Given the description of an element on the screen output the (x, y) to click on. 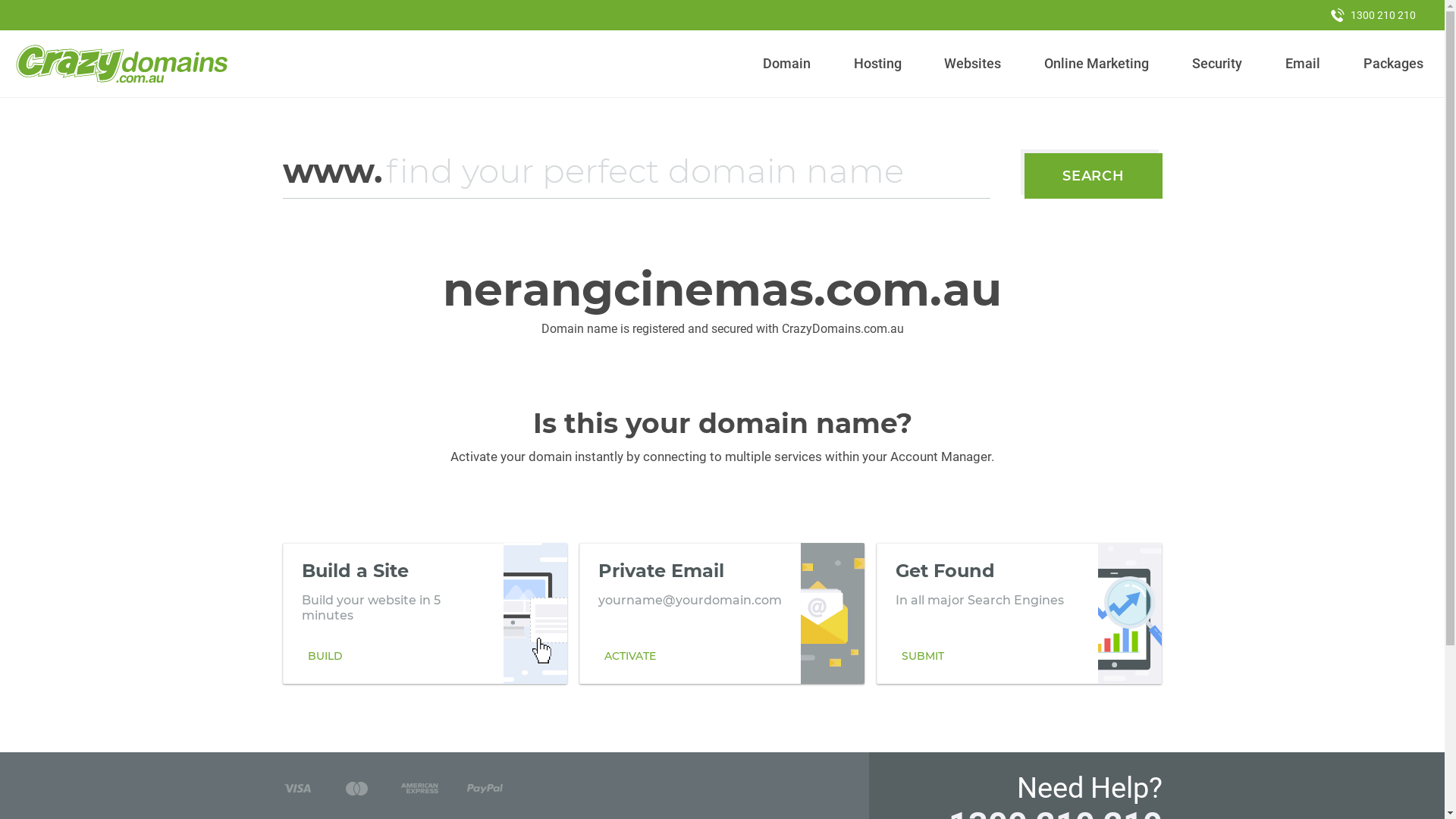
Email Element type: text (1302, 63)
Get Found
In all major Search Engines
SUBMIT Element type: text (1018, 613)
Hosting Element type: text (877, 63)
Online Marketing Element type: text (1096, 63)
1300 210 210 Element type: text (1373, 15)
Private Email
yourname@yourdomain.com
ACTIVATE Element type: text (721, 613)
Security Element type: text (1217, 63)
SEARCH Element type: text (1092, 175)
Packages Element type: text (1392, 63)
Build a Site
Build your website in 5 minutes
BUILD Element type: text (424, 613)
Domain Element type: text (786, 63)
Websites Element type: text (972, 63)
